Given the description of an element on the screen output the (x, y) to click on. 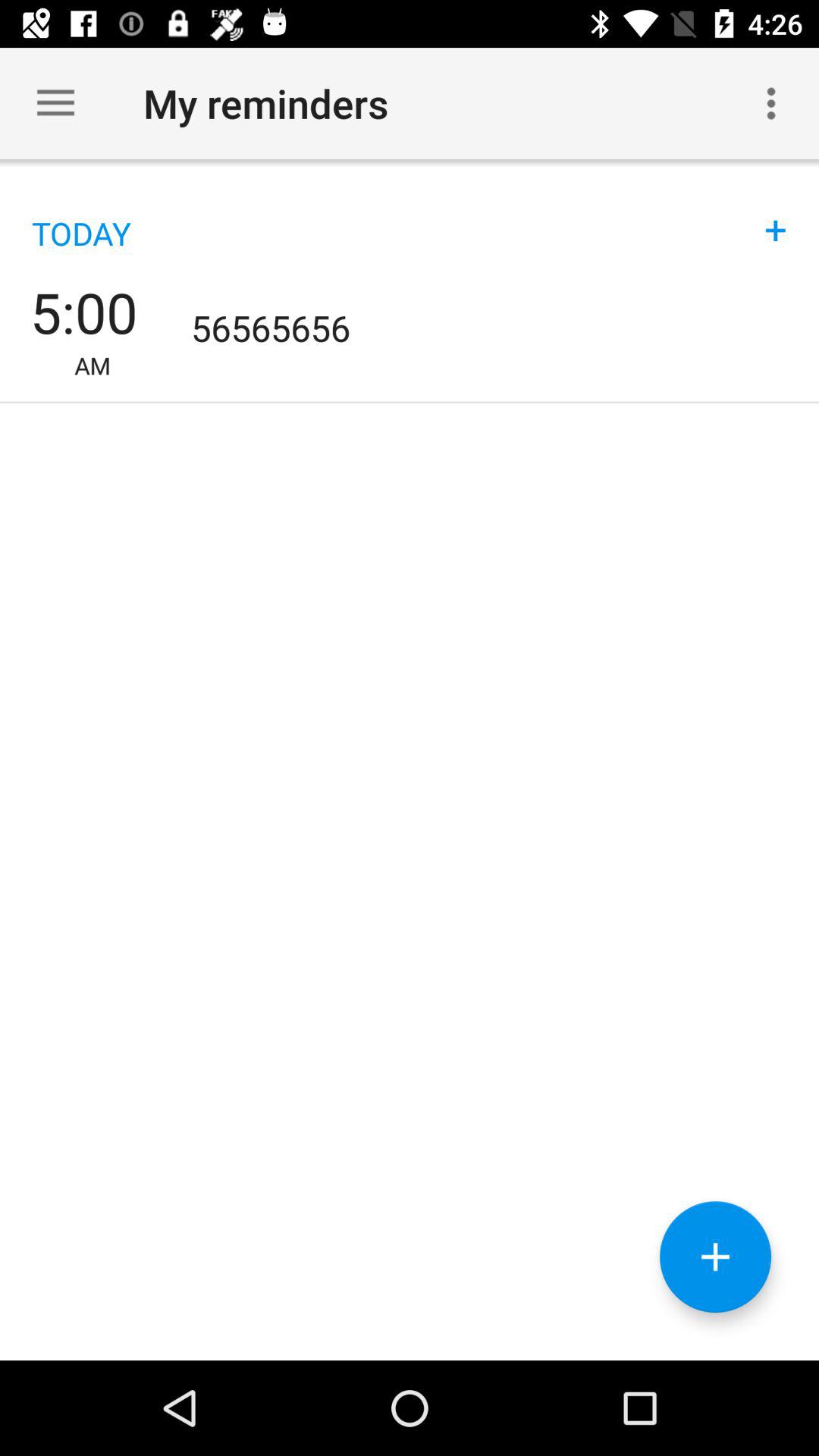
swipe until the + (775, 214)
